Given the description of an element on the screen output the (x, y) to click on. 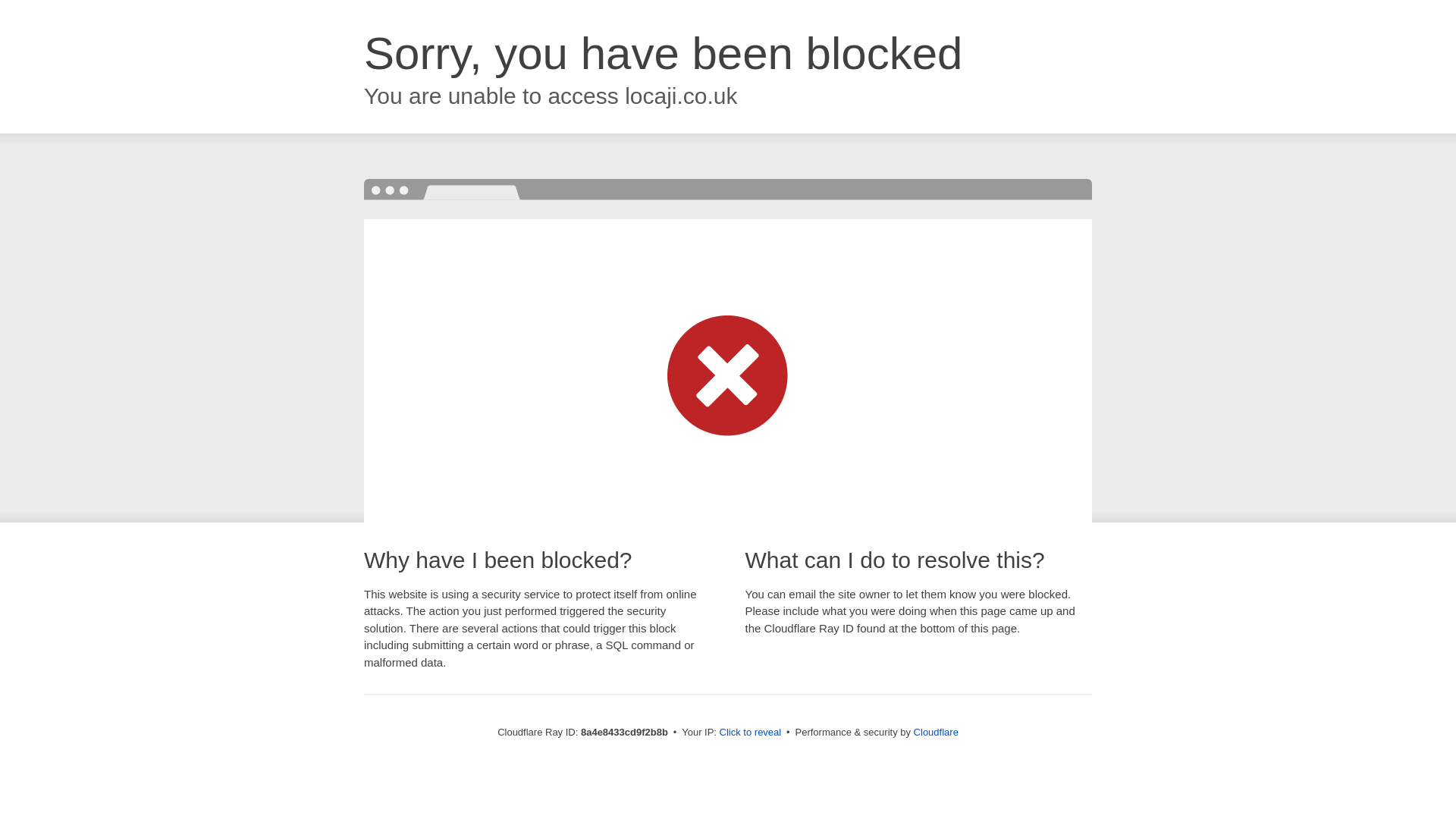
Cloudflare (936, 731)
Click to reveal (750, 732)
